Given the description of an element on the screen output the (x, y) to click on. 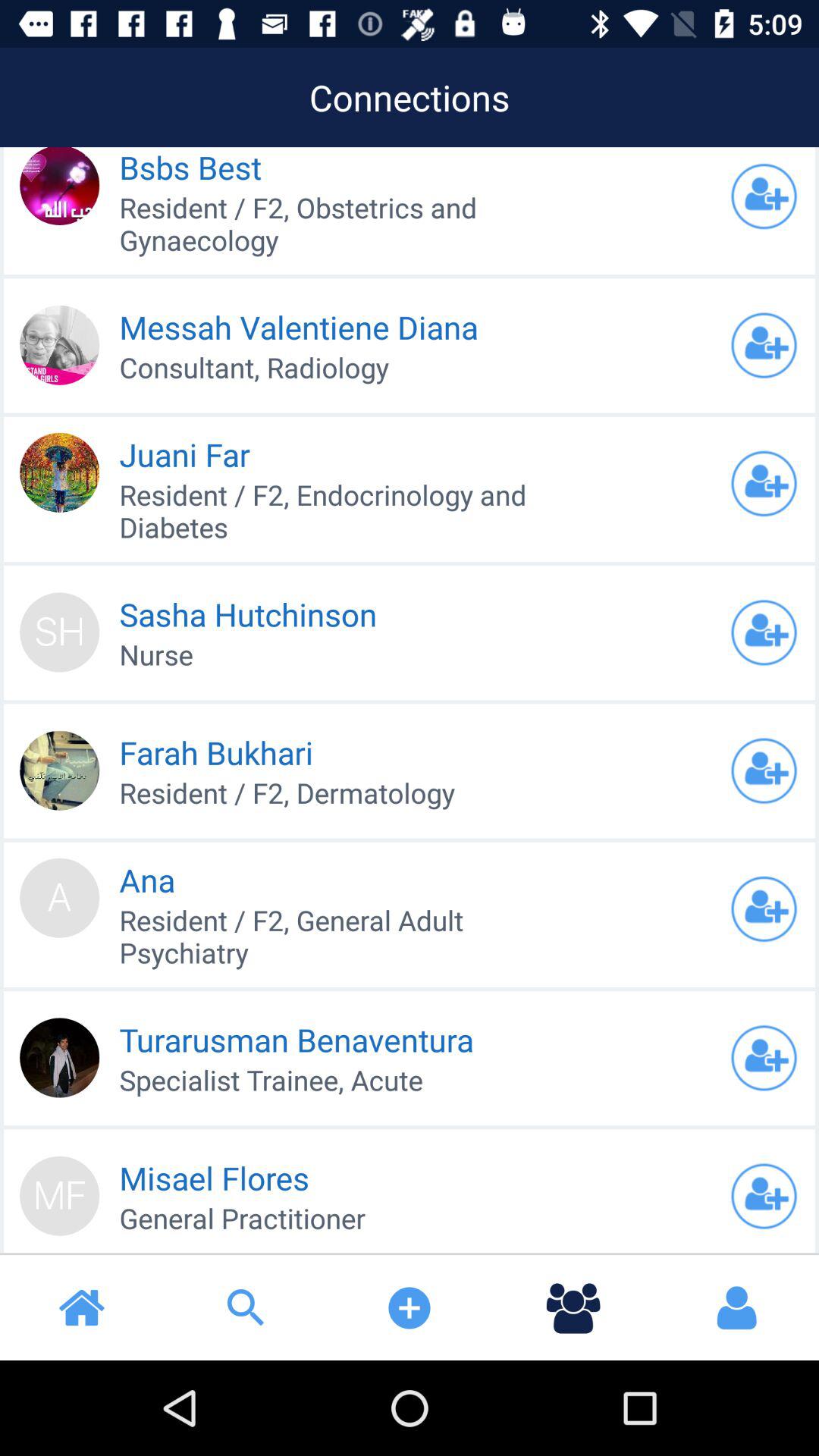
add person (764, 345)
